Given the description of an element on the screen output the (x, y) to click on. 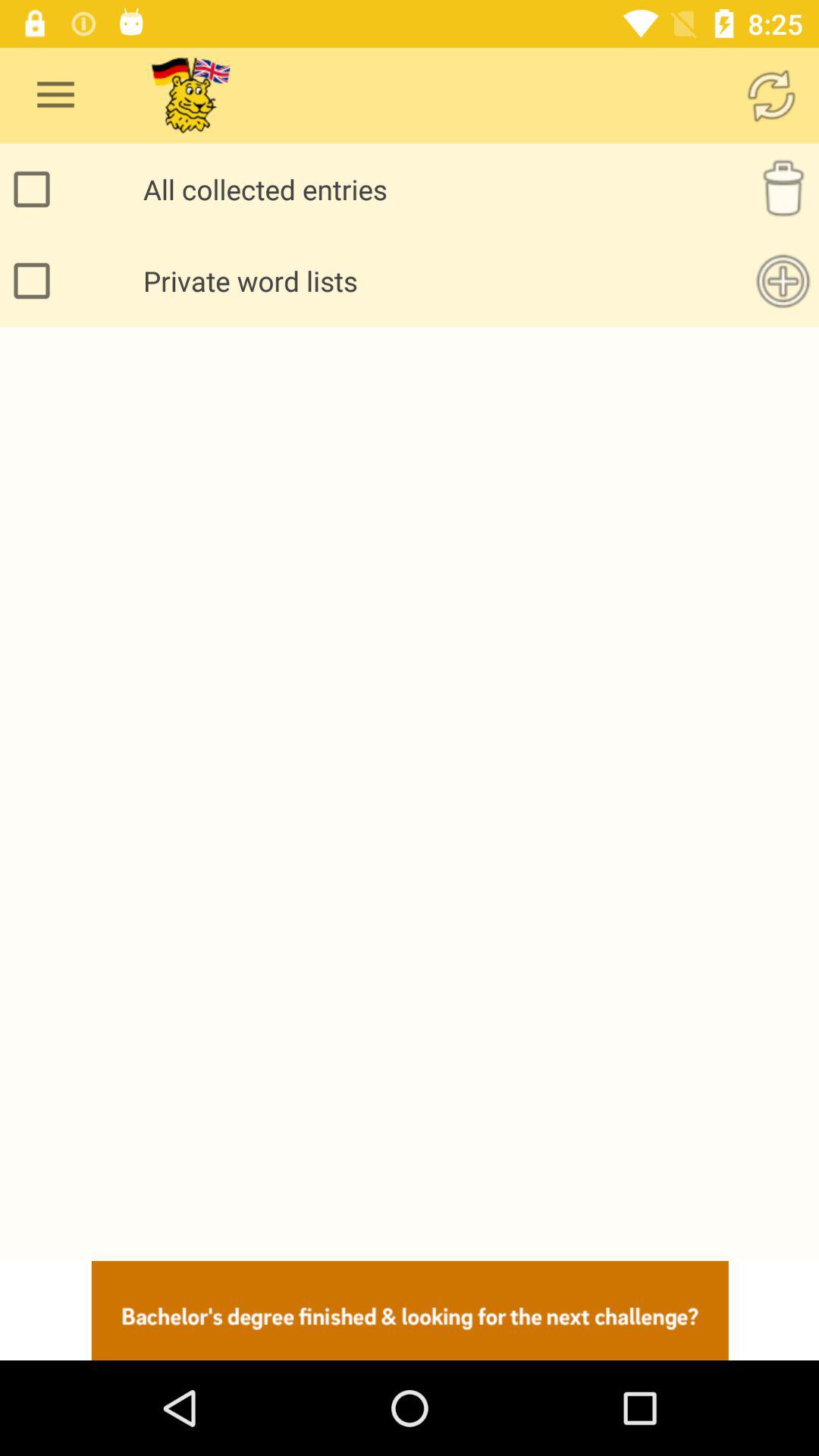
add words (783, 280)
